Given the description of an element on the screen output the (x, y) to click on. 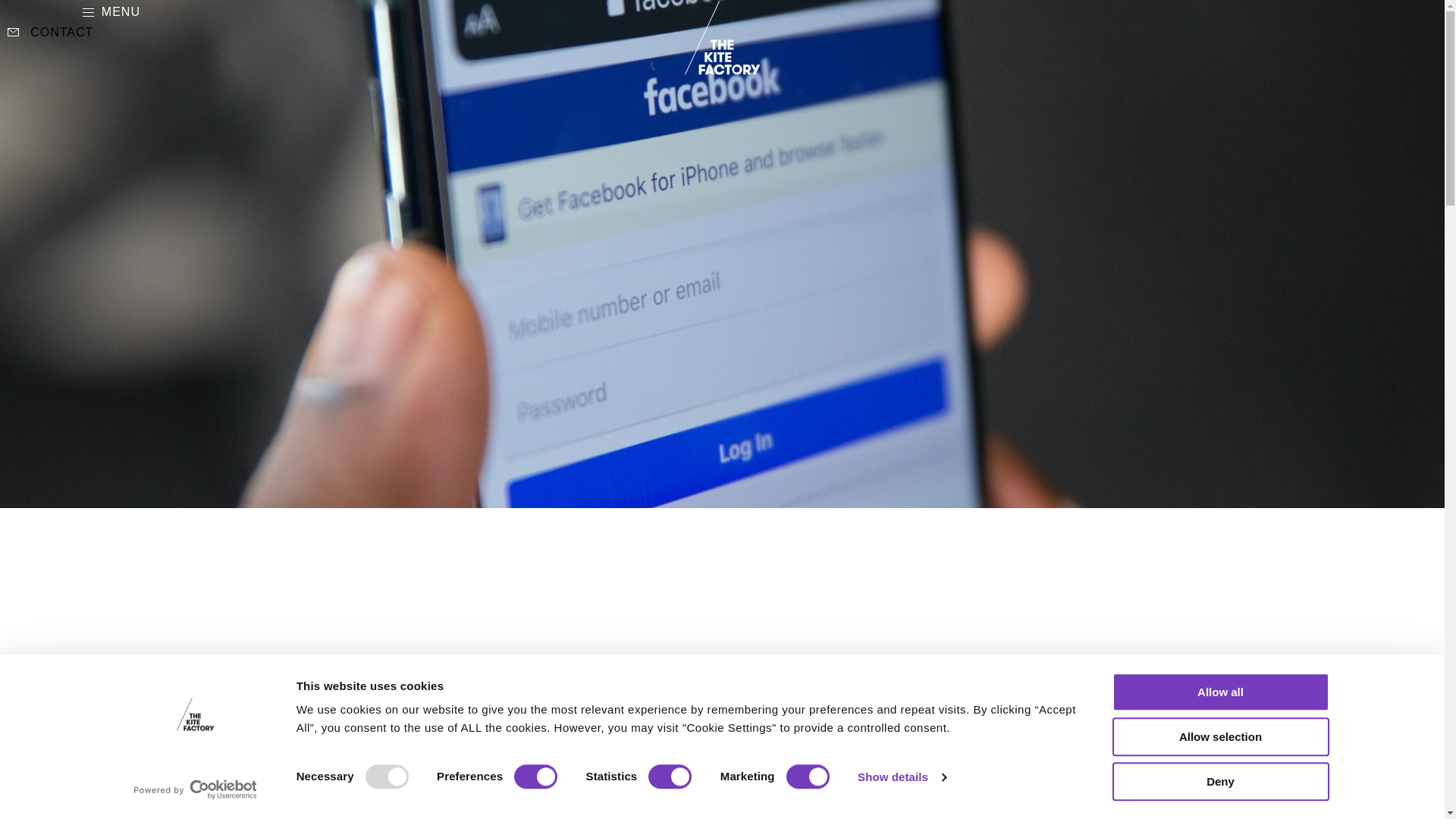
Show details (900, 776)
Allow all (1219, 691)
The Kite Factory (722, 38)
Allow selection (1219, 736)
Deny (1219, 781)
Contact (50, 32)
